Given the description of an element on the screen output the (x, y) to click on. 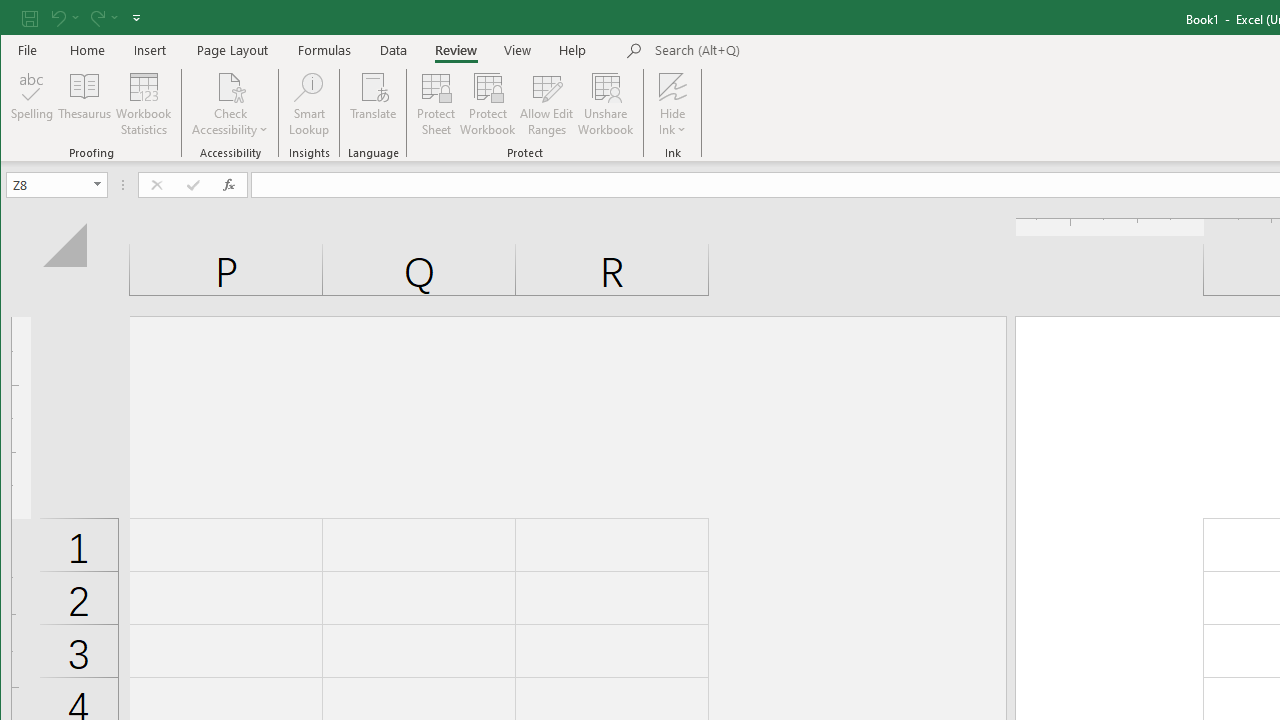
Thesaurus... (84, 104)
Translate (373, 104)
Spelling... (32, 104)
Allow Edit Ranges (547, 104)
Smart Lookup (308, 104)
